Given the description of an element on the screen output the (x, y) to click on. 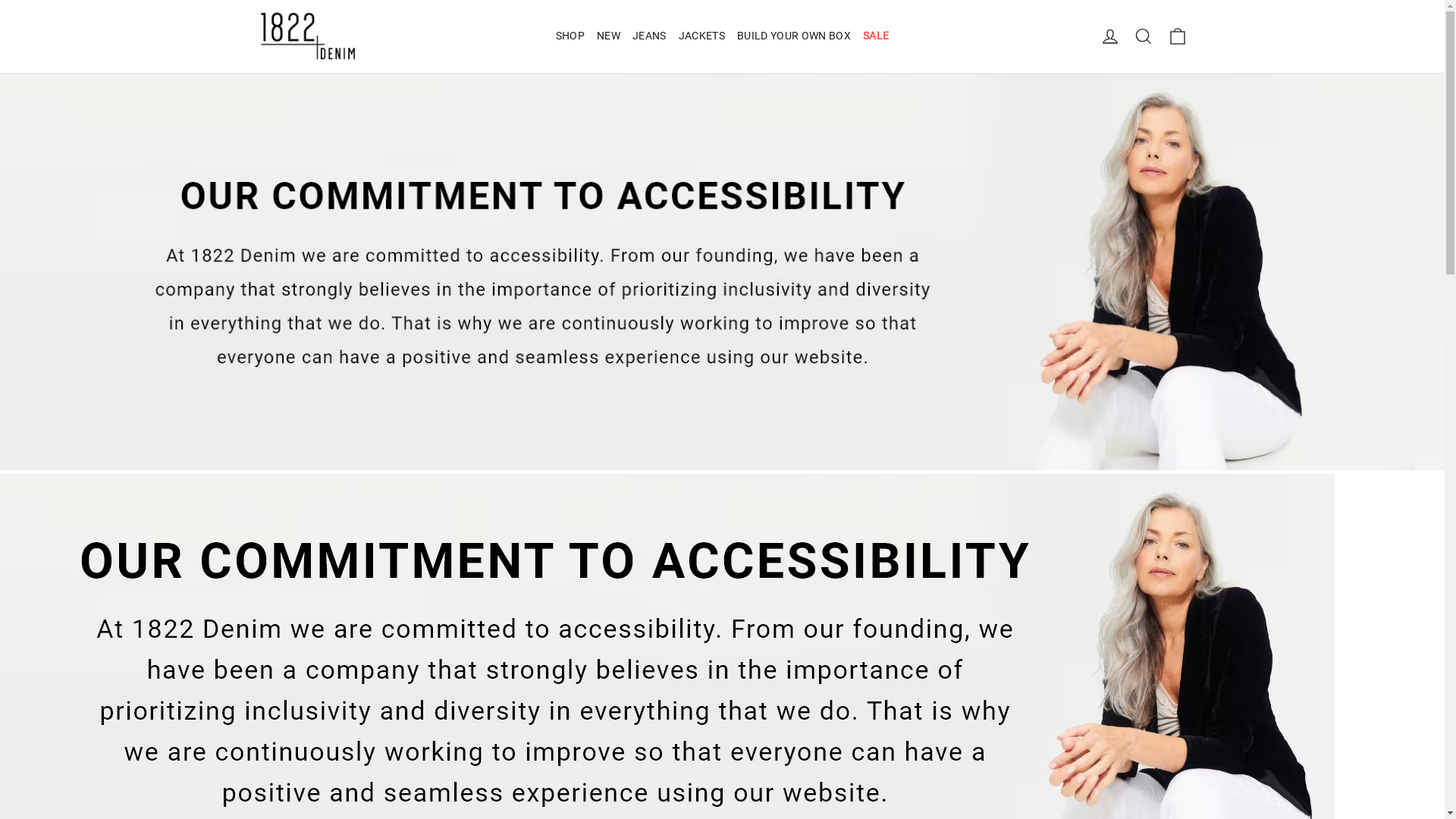
SALE Element type: text (875, 35)
BUILD YOUR OWN BOX Element type: text (793, 35)
Search Element type: text (1143, 36)
JEANS Element type: text (649, 35)
Log in Element type: text (1109, 36)
SHOP Element type: text (569, 35)
Skip to content Element type: text (0, 0)
Cart Element type: text (1176, 36)
NEW Element type: text (608, 35)
JACKETS Element type: text (701, 35)
